Given the description of an element on the screen output the (x, y) to click on. 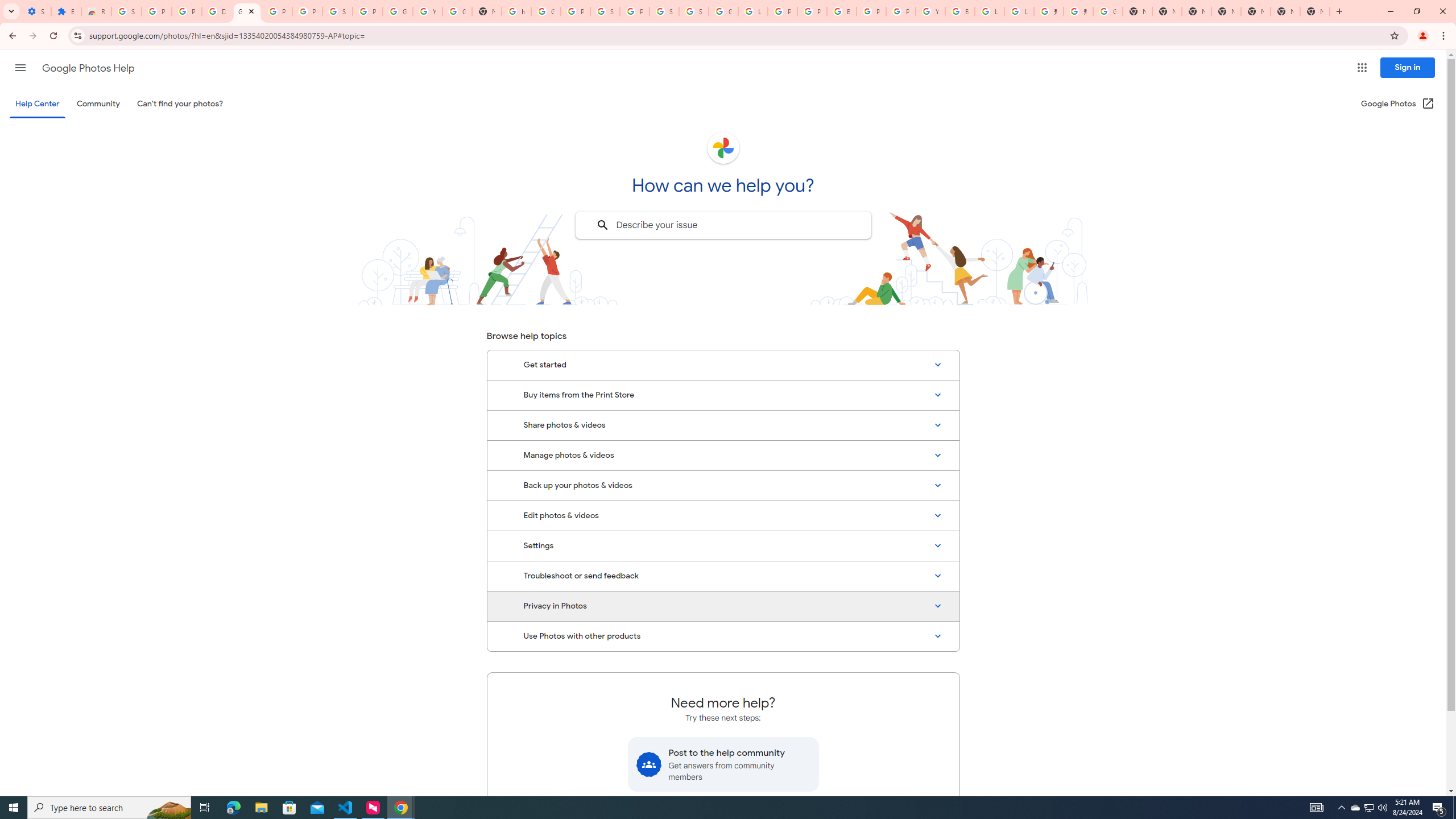
Delete photos & videos - Computer - Google Photos Help (216, 11)
Manage photos & videos (722, 455)
Google Photos (Open in a new window) (1397, 103)
Privacy Help Center - Policies Help (782, 11)
New Tab (1226, 11)
Describe your issue to find information that might help you. (722, 225)
Help Center (36, 103)
Troubleshoot or send feedback (722, 576)
Back up your photos & videos (722, 485)
